Given the description of an element on the screen output the (x, y) to click on. 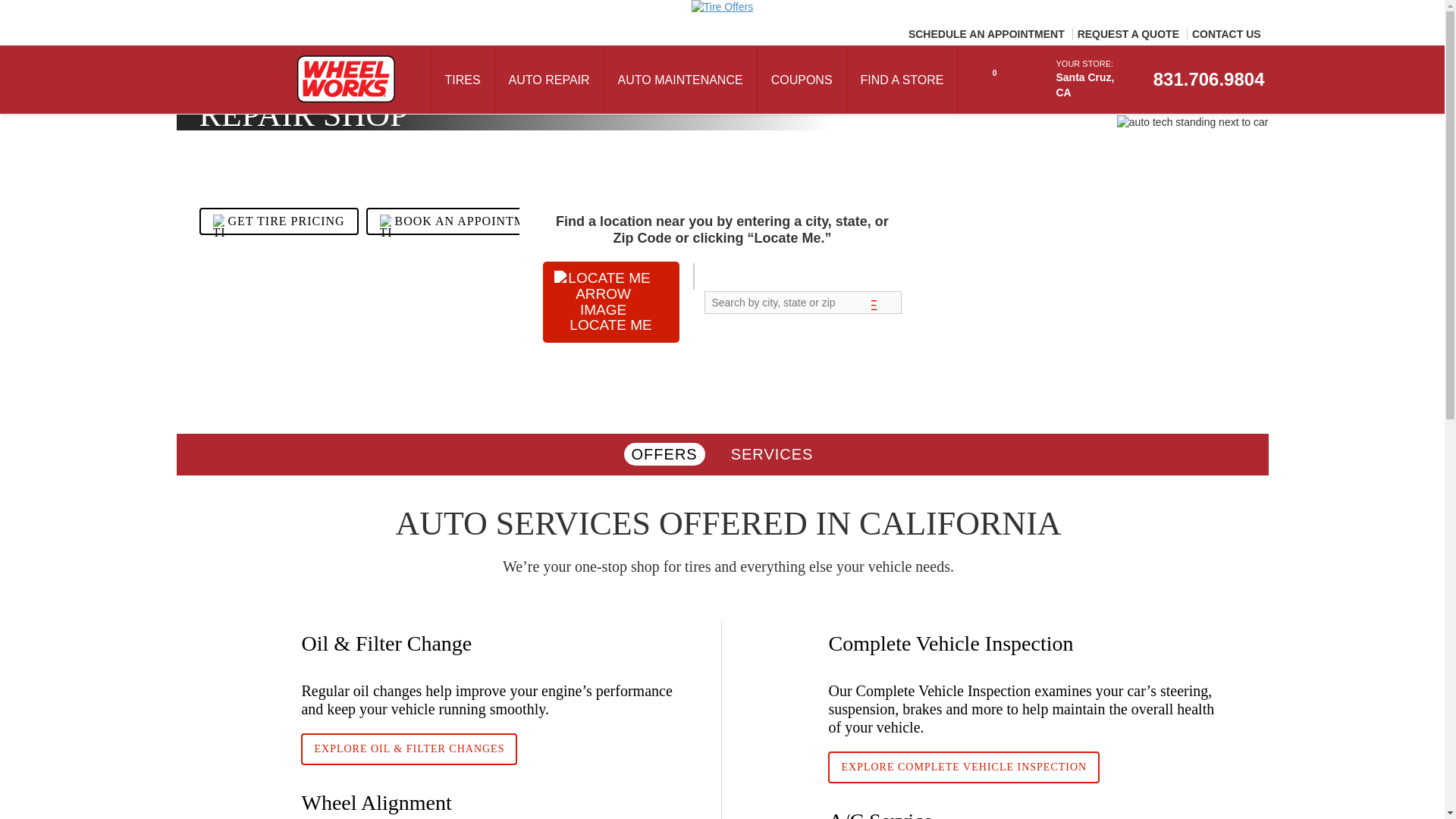
SCHEDULE AN APPOINTMENT (986, 33)
TIRES (461, 79)
CONTACT US (1225, 33)
AUTO MAINTENANCE (680, 79)
REQUEST A QUOTE (1127, 33)
Enter Zip Code or City, State (802, 302)
AUTO REPAIR (549, 79)
